Given the description of an element on the screen output the (x, y) to click on. 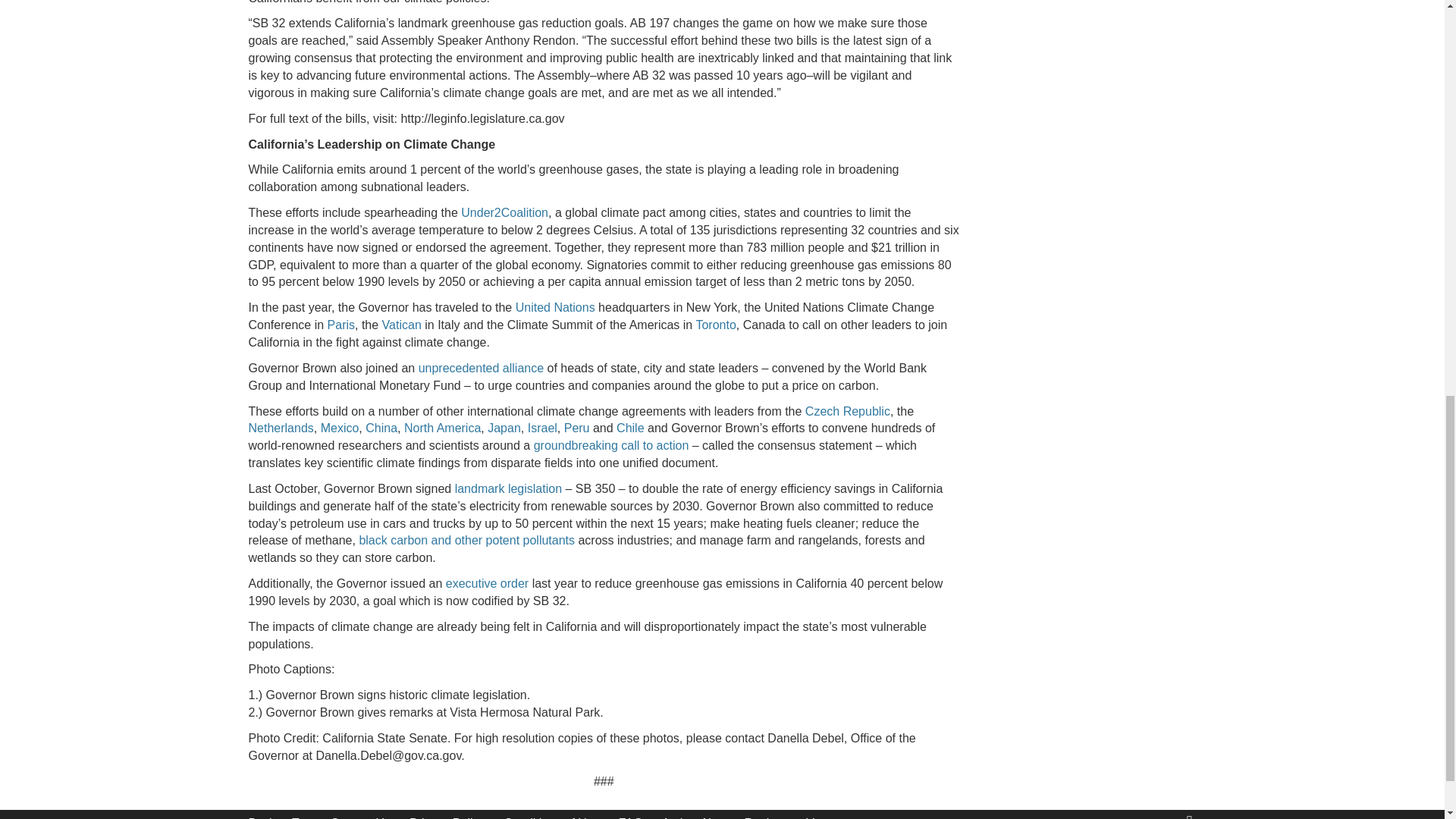
Under2Coalition (504, 212)
United Nations (555, 307)
Paris (341, 324)
